Given the description of an element on the screen output the (x, y) to click on. 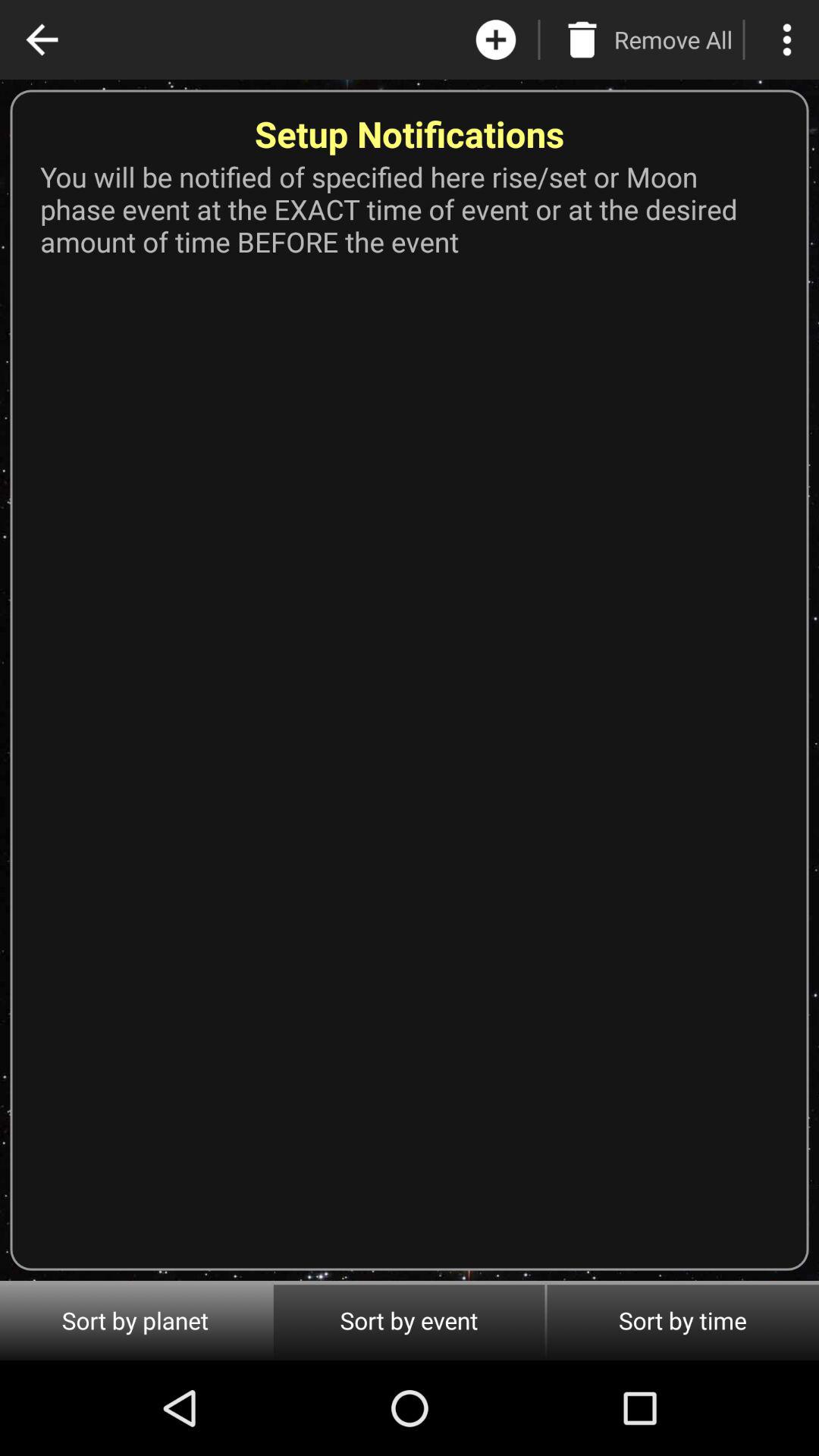
delete/trash option (582, 39)
